Given the description of an element on the screen output the (x, y) to click on. 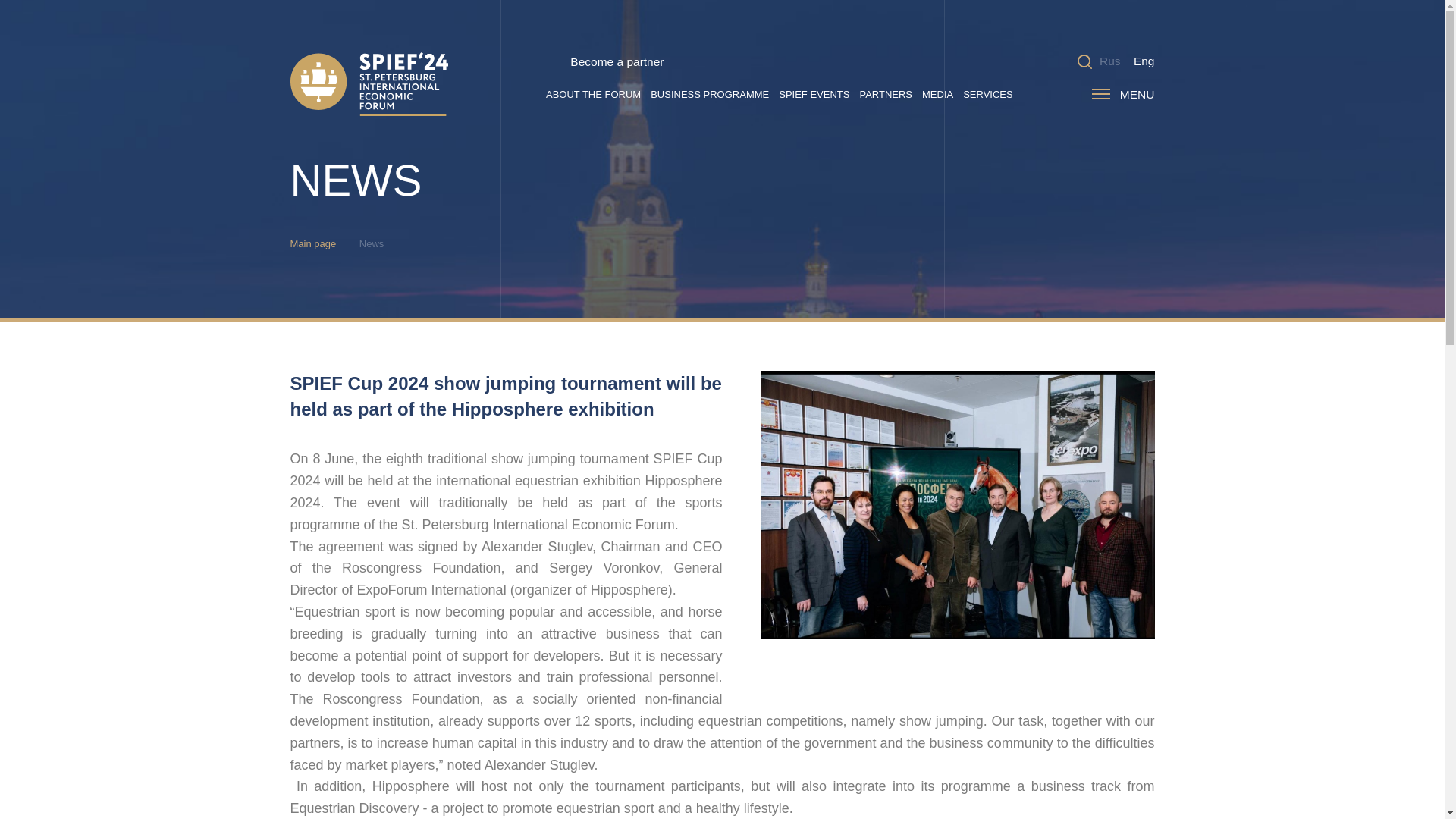
SPIEF events (813, 93)
PARTNERS (885, 93)
Rus (1110, 61)
Business programme (709, 93)
SPIEF EVENTS (813, 93)
SERVICES (987, 93)
ABOUT THE FORUM (593, 93)
ABOUT THE FORUM (593, 93)
Partners (885, 93)
Media (937, 93)
